Given the description of an element on the screen output the (x, y) to click on. 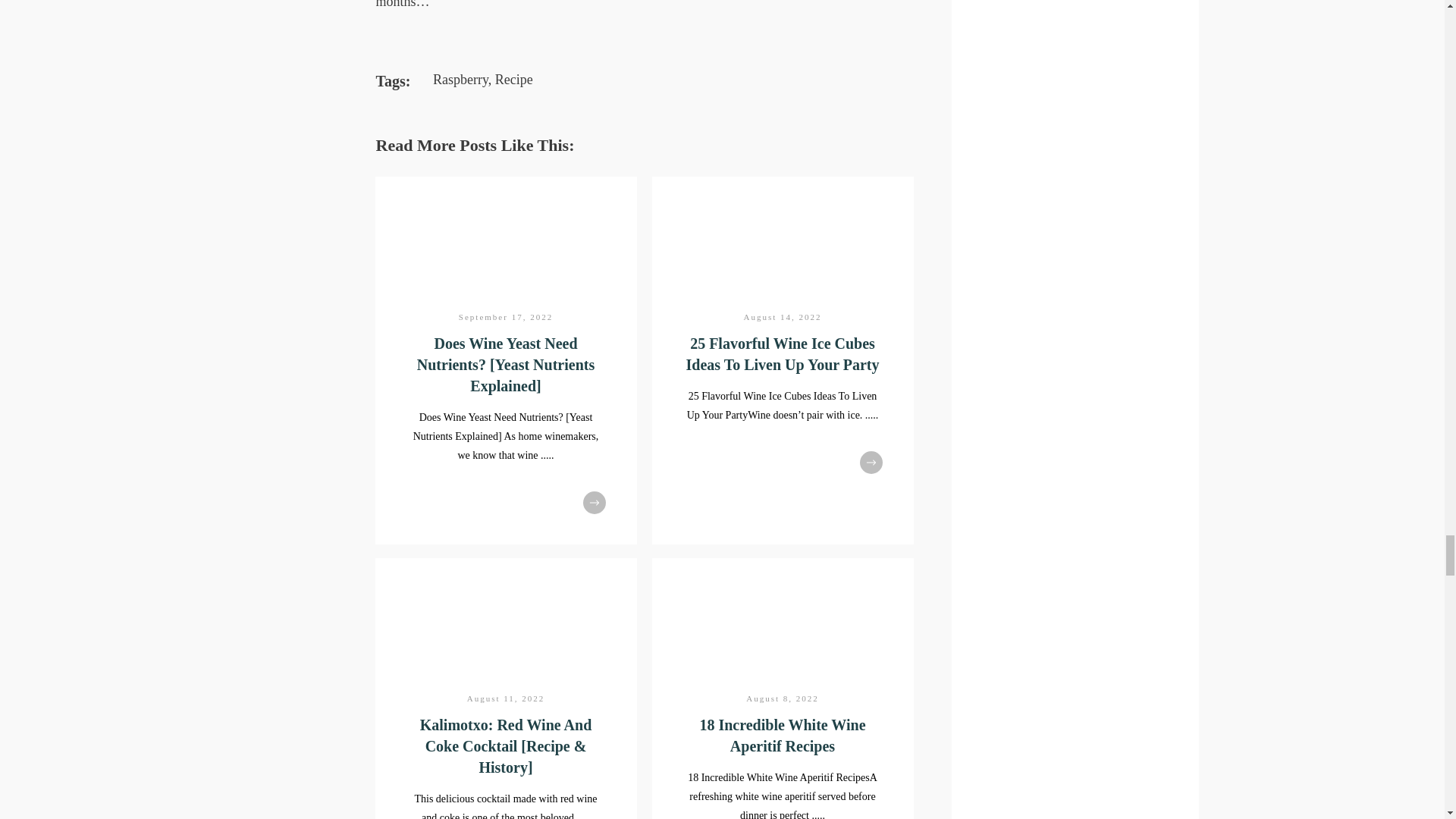
25 Flavorful Wine Ice Cubes Ideas To Liven Up Your Party (782, 353)
18 Incredible White Wine Aperitif Recipes (781, 735)
Raspberry (459, 79)
Recipe (513, 79)
Recipe (513, 79)
..... (547, 455)
Raspberry (459, 79)
25 Flavorful Wine Ice Cubes Ideas To Liven Up Your Party (782, 353)
..... (871, 414)
